Given the description of an element on the screen output the (x, y) to click on. 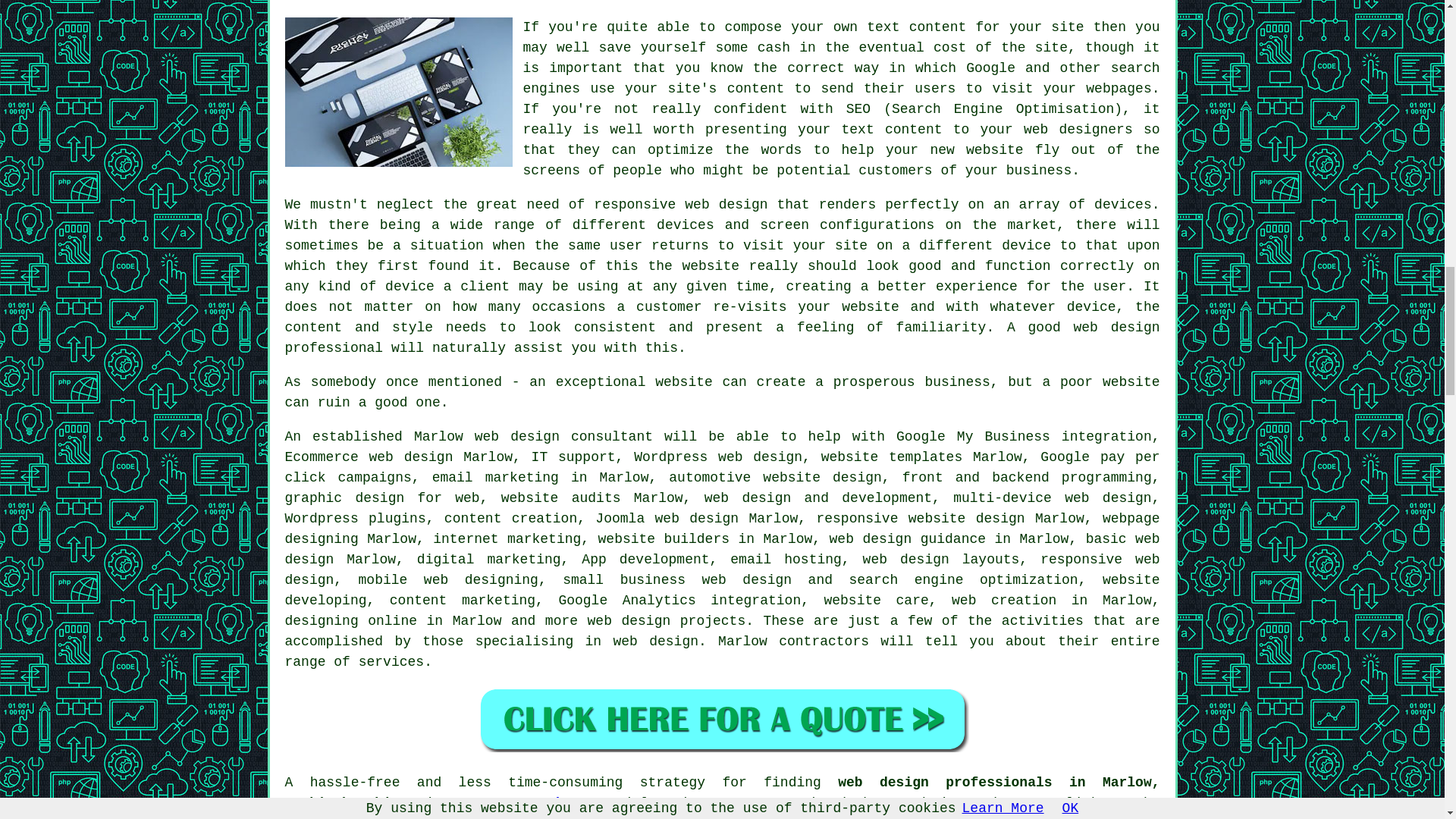
device (1026, 245)
responsive website design (920, 518)
your business (1018, 170)
web design projects (666, 620)
Marlow web design (486, 436)
Web Designers in Marlow, Buckinghamshire - Web Development (398, 92)
responsive web design (722, 570)
multi-device web design (1052, 498)
Wordpress web design (717, 457)
web design professionals in Marlow, Buckinghamshire (722, 792)
